Given the description of an element on the screen output the (x, y) to click on. 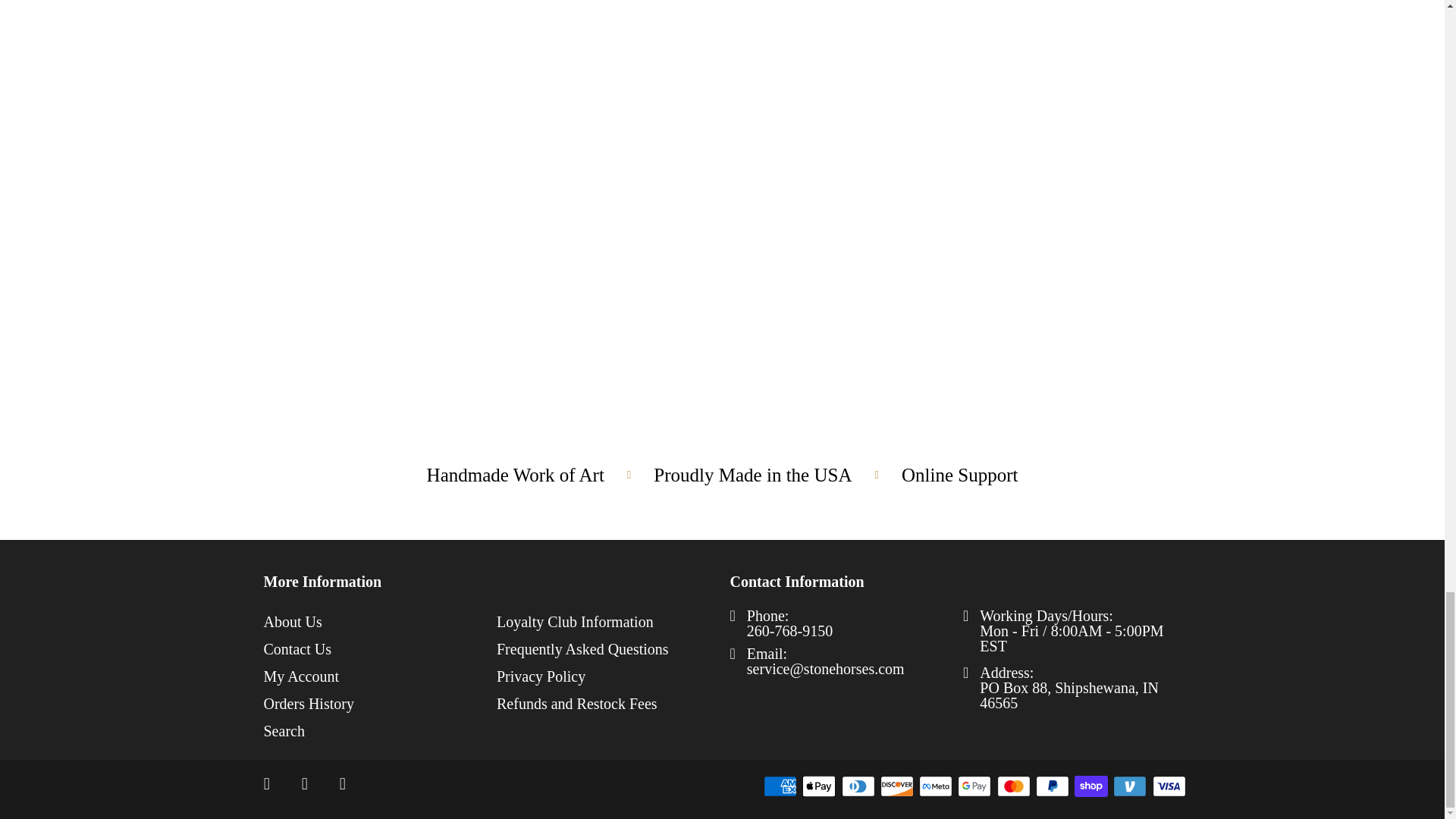
Venmo (1131, 785)
Stone Horses on Instagram (304, 783)
Stone Horses on Facebook (267, 783)
PayPal (1053, 785)
Email Stone Horses (342, 783)
Meta Pay (936, 785)
Discover (898, 785)
Shop Pay (1092, 785)
Apple Pay (820, 785)
Mastercard (1013, 785)
American Express (780, 785)
Diners Club (859, 785)
Google Pay (976, 785)
Visa (1171, 785)
